Given the description of an element on the screen output the (x, y) to click on. 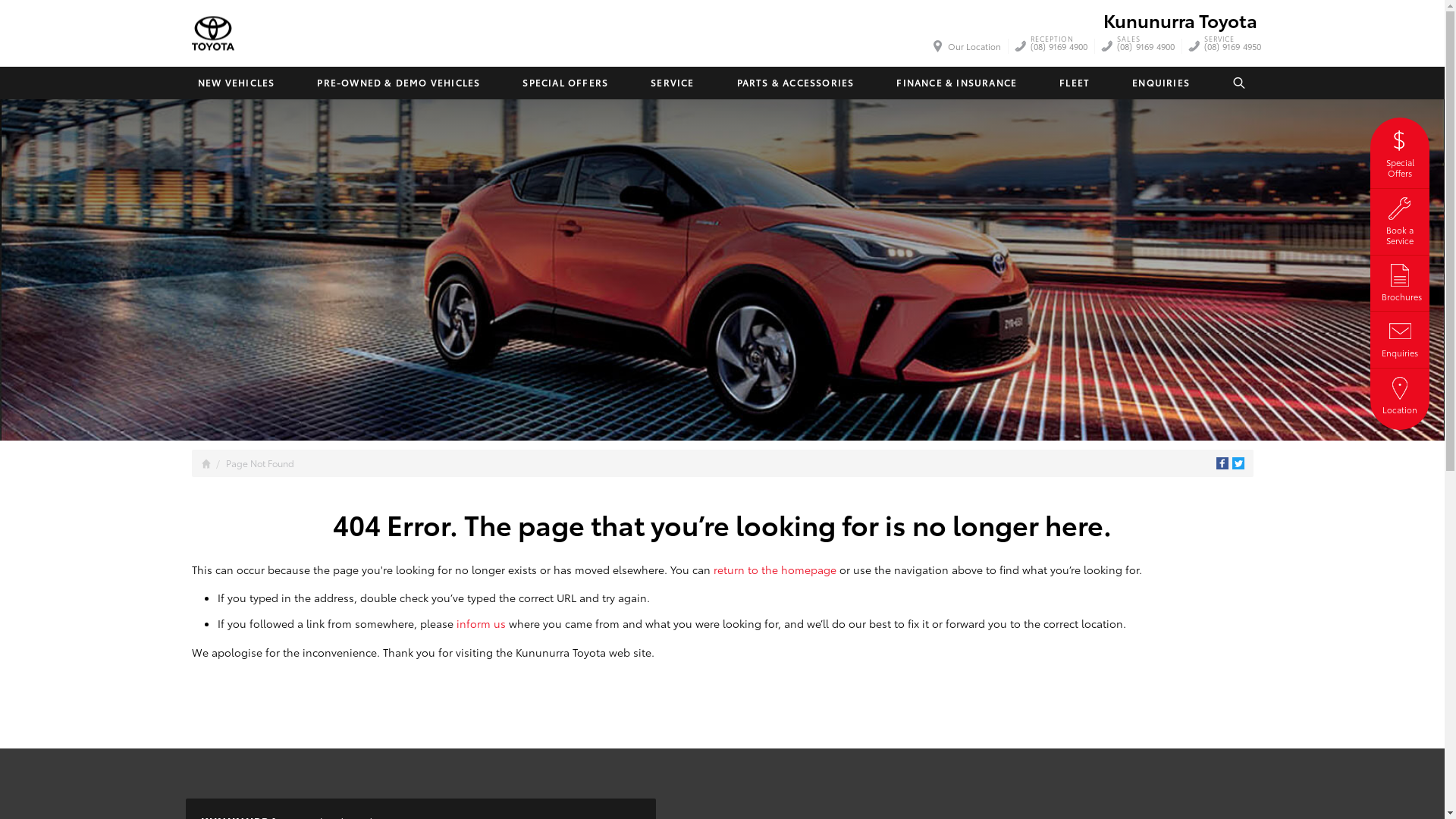
Brochures Element type: text (1399, 280)
PARTS & ACCESSORIES Element type: text (795, 82)
Kununurra Toyota Element type: text (1179, 20)
Home Element type: text (205, 463)
SEARCH Element type: text (1239, 82)
Location Element type: text (1399, 393)
NEW VEHICLES Element type: text (234, 82)
Enquiries Element type: text (1399, 336)
return to the homepage Element type: text (773, 569)
Kununurra Toyota Element type: hover (212, 33)
RECEPTION
(08) 9169 4900 Element type: text (1059, 45)
SERVICE Element type: text (672, 82)
FLEET Element type: text (1074, 82)
SALES
(08) 9169 4900 Element type: text (1145, 45)
PRE-OWNED & DEMO VEHICLES Element type: text (398, 82)
Special Offers Element type: text (1399, 151)
Our Location Element type: text (967, 45)
Facebook Element type: hover (1222, 463)
SPECIAL OFFERS Element type: text (565, 82)
Book a Service Element type: text (1399, 219)
SERVICE
(08) 9169 4950 Element type: text (1232, 45)
FINANCE & INSURANCE Element type: text (956, 82)
Twitter Element type: hover (1237, 463)
ENQUIRIES Element type: text (1160, 82)
inform us Element type: text (480, 622)
